Given the description of an element on the screen output the (x, y) to click on. 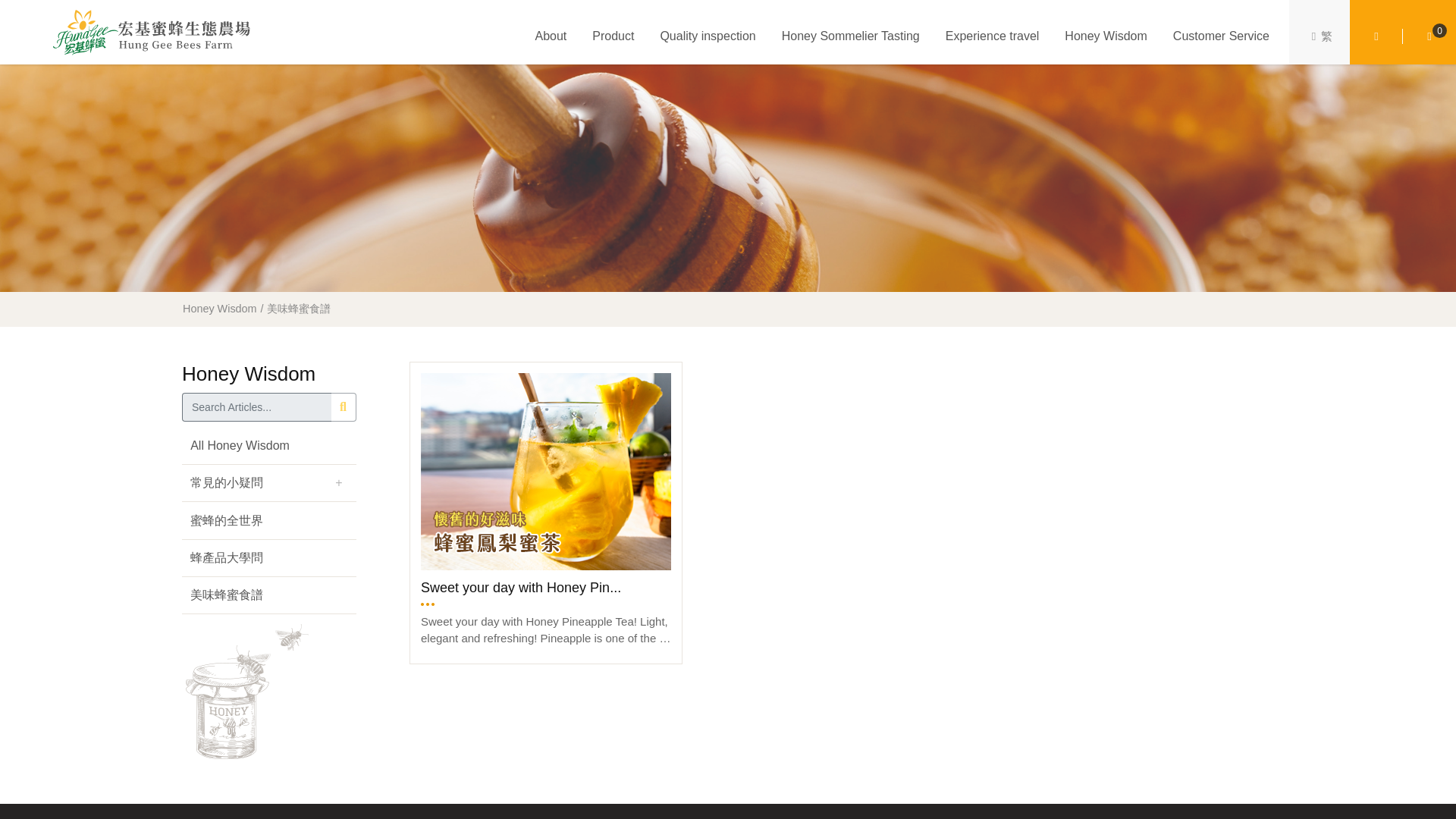
About (550, 36)
Honey Sommelier Tasting (851, 36)
Product (613, 36)
Quality inspection (707, 36)
Product (613, 36)
Member Centre (1376, 36)
Honey Wisdom (1105, 36)
Customer Service (1221, 36)
Experience travel (992, 36)
Quality inspection (707, 36)
